Given the description of an element on the screen output the (x, y) to click on. 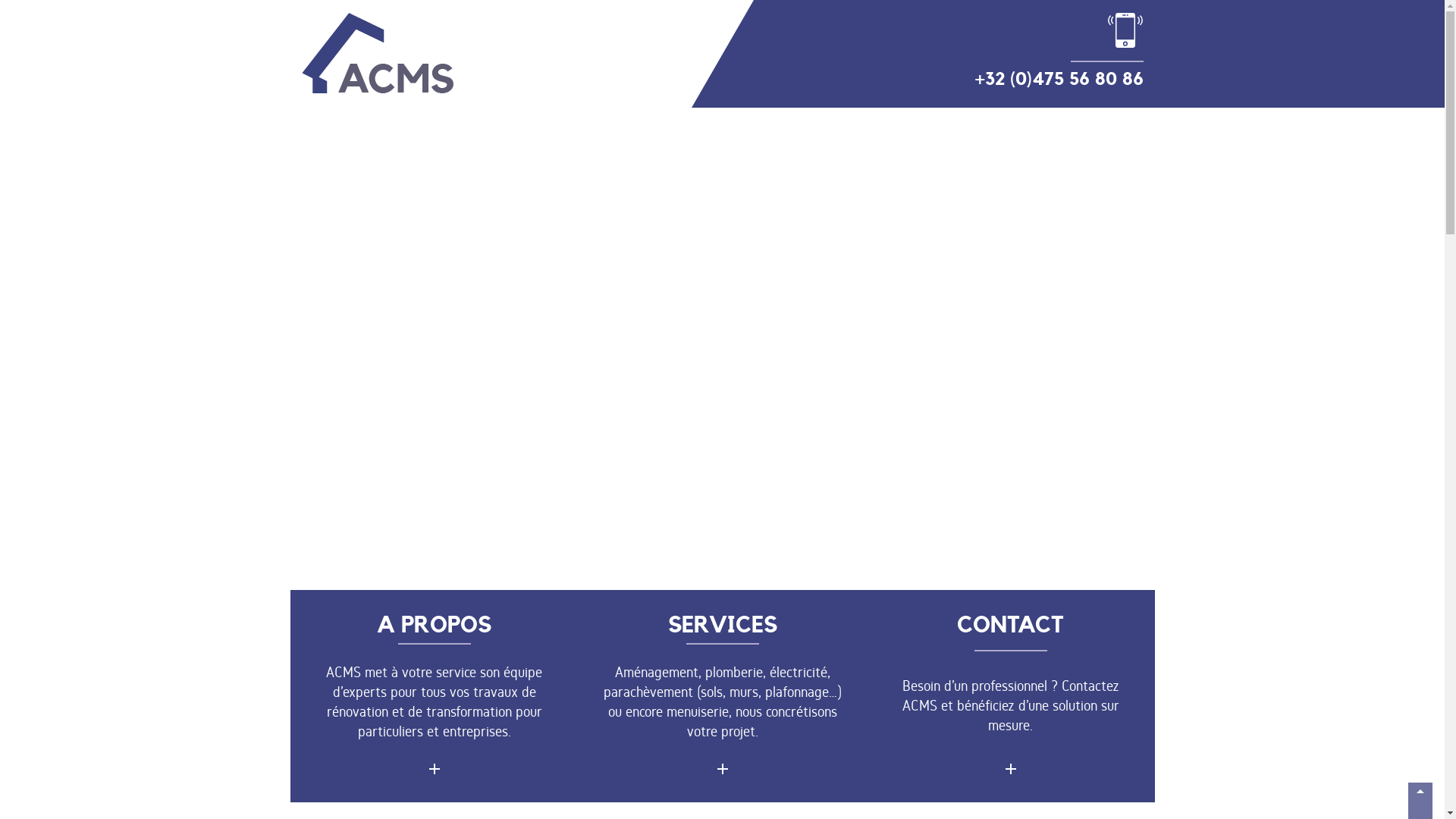
+32 (0)475 56 80 86 Element type: text (1059, 51)
